Given the description of an element on the screen output the (x, y) to click on. 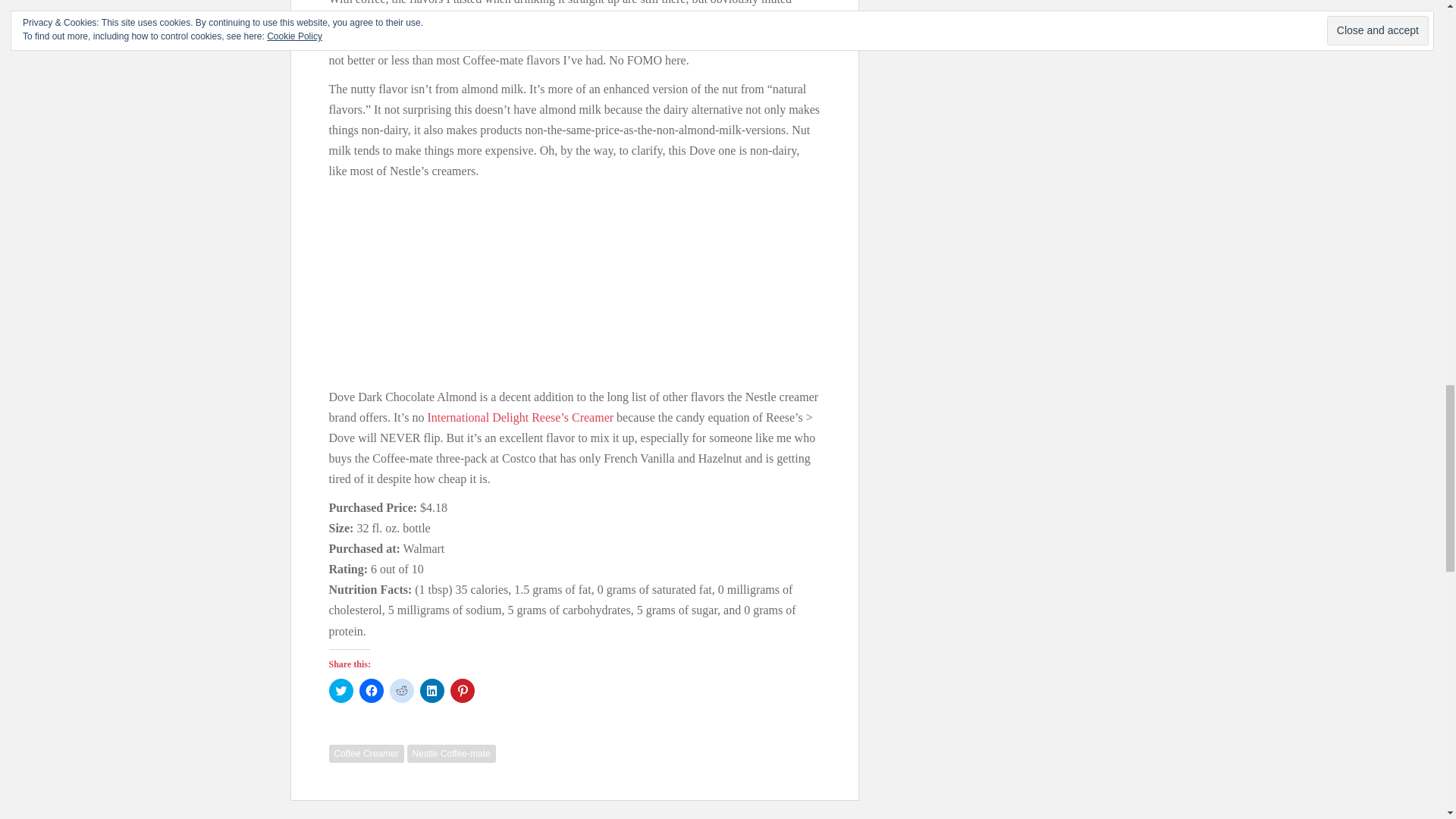
Click to share on Pinterest (461, 690)
Click to share on Twitter (341, 690)
Click to share on Reddit (401, 690)
Nestle Coffee-mate (451, 753)
Coffee Creamer (366, 753)
Click to share on Facebook (371, 690)
Click to share on LinkedIn (432, 690)
